Given the description of an element on the screen output the (x, y) to click on. 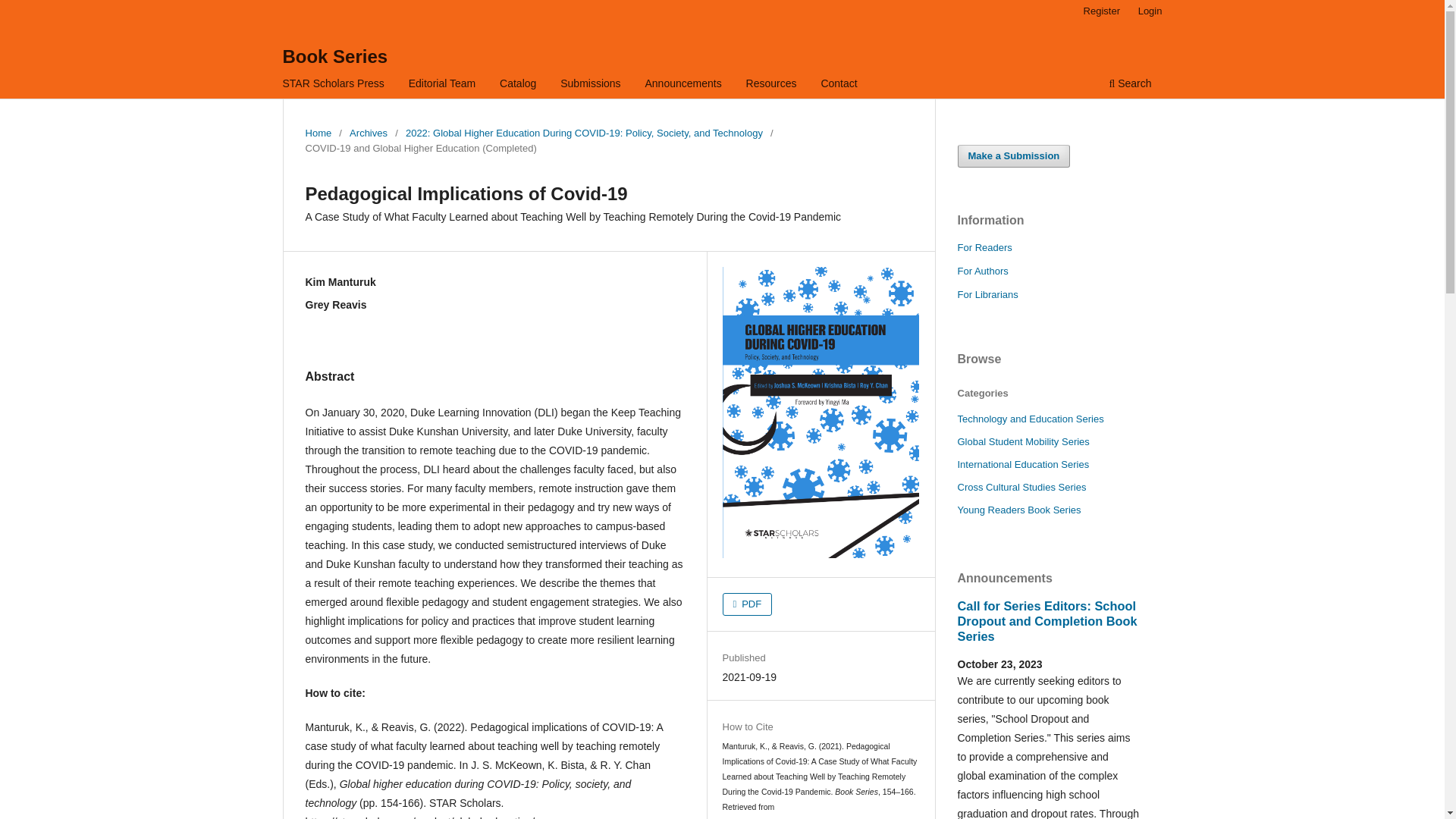
Book Series (334, 56)
STAR Scholars Press (334, 85)
Login (1150, 11)
Home (317, 133)
Resources (771, 85)
Announcements (683, 85)
Register (1100, 11)
Catalog (518, 85)
Contact (838, 85)
PDF (747, 603)
Archives (368, 133)
Search (1129, 85)
Submissions (590, 85)
Editorial Team (441, 85)
